Given the description of an element on the screen output the (x, y) to click on. 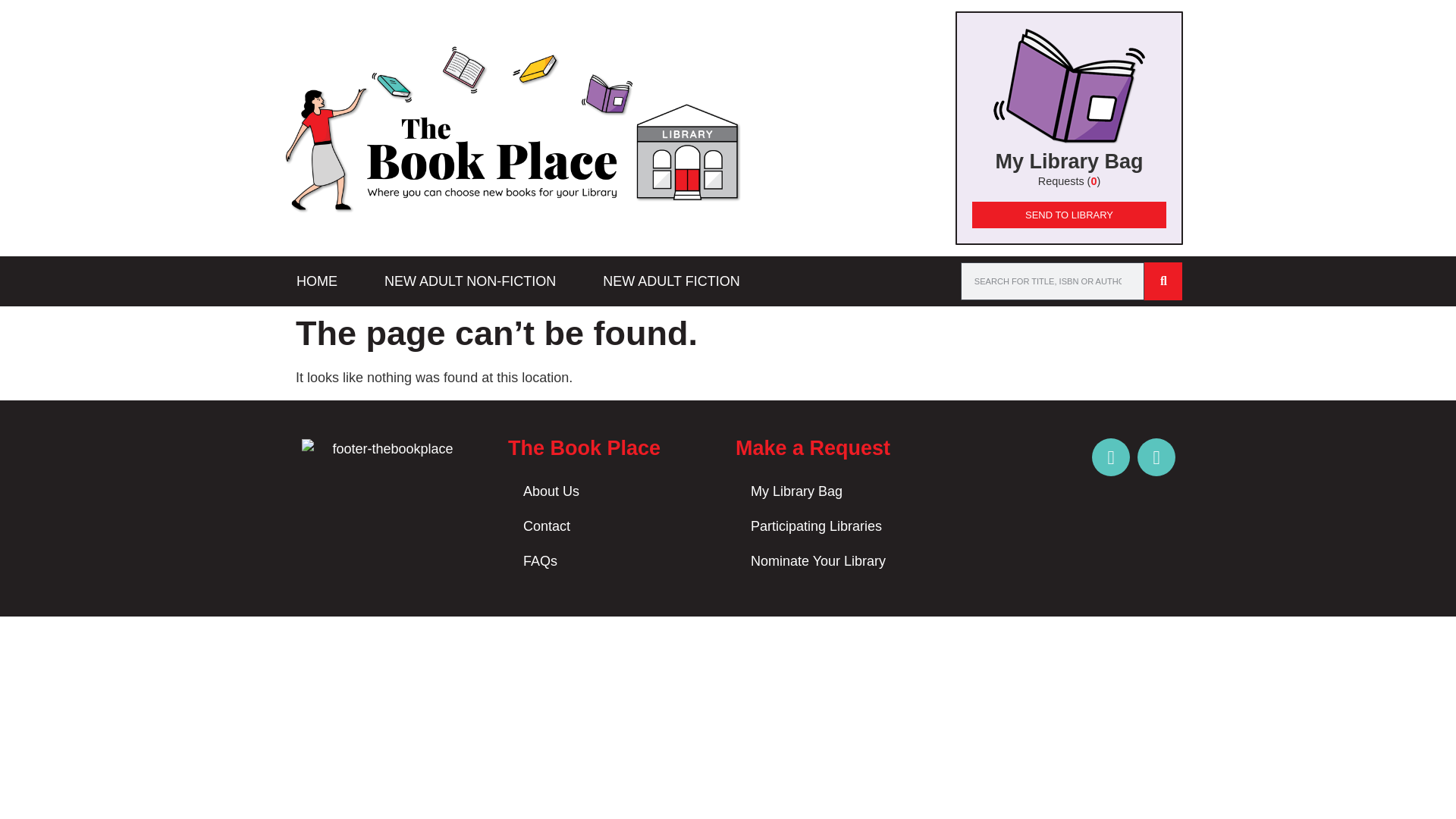
footer-thebookplace (386, 448)
HOME (317, 281)
Search (1163, 281)
NEW ADULT NON-FICTION (470, 281)
Search (1052, 281)
Go to bag (1068, 127)
